Given the description of an element on the screen output the (x, y) to click on. 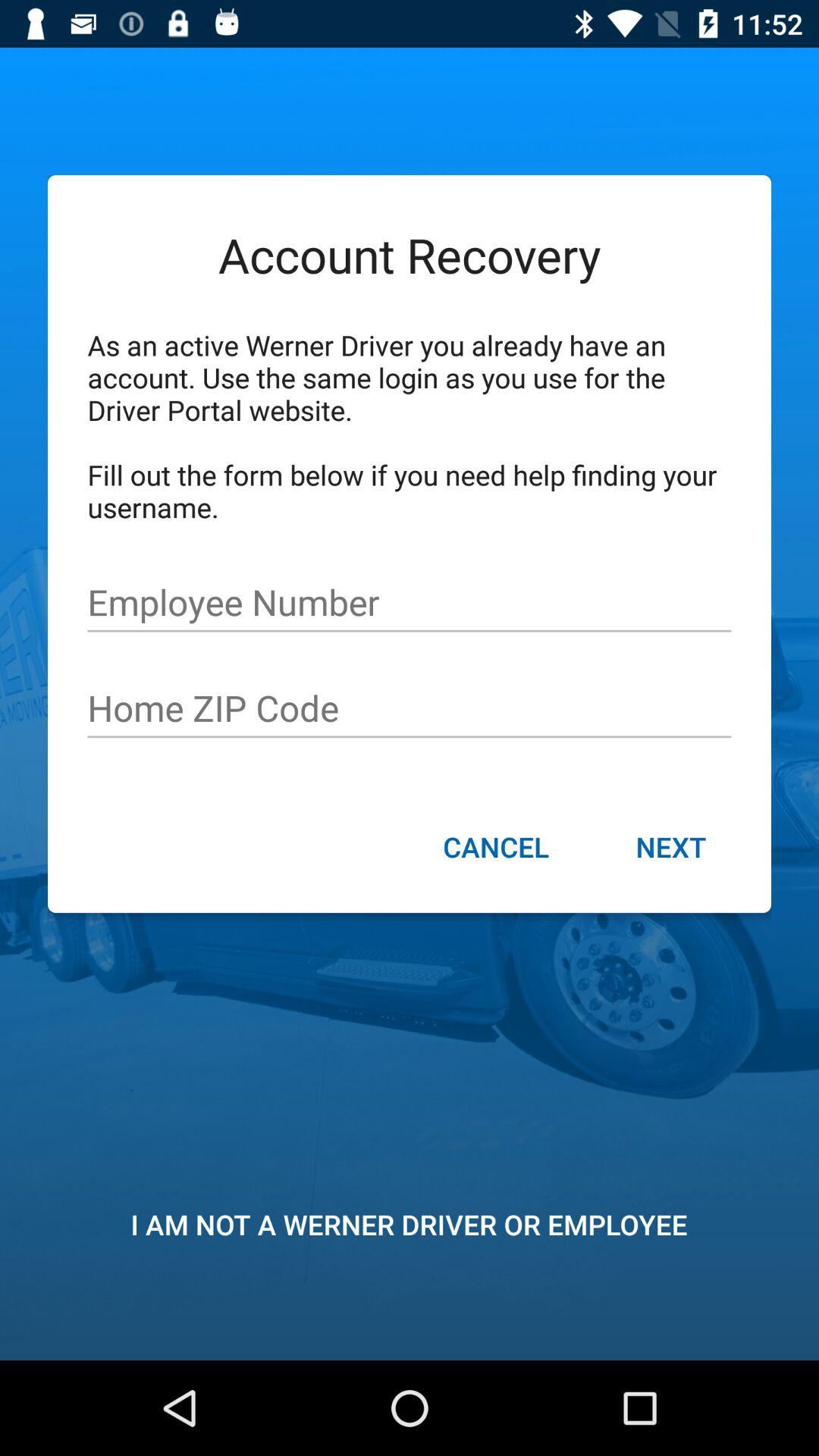
turn off item below the as an active (409, 602)
